Given the description of an element on the screen output the (x, y) to click on. 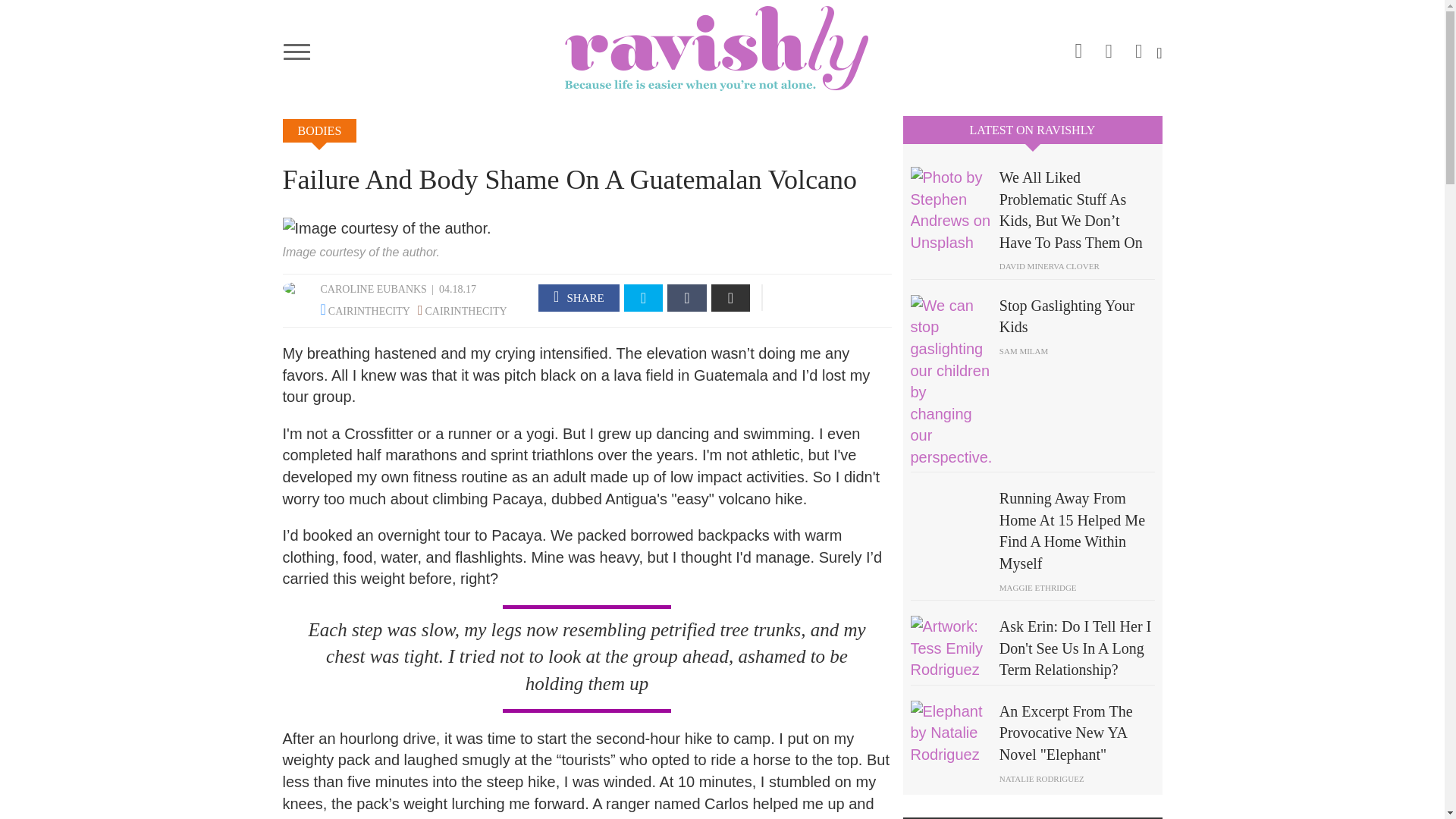
Home (721, 47)
instagram (1077, 48)
CAROLINE EUBANKS (373, 288)
Tumblr (686, 298)
CAIRINTHECITY (369, 310)
Email (731, 298)
twitter (643, 298)
Image courtesy of the author.  (586, 228)
BODIES (319, 130)
facebook (579, 298)
